Given the description of an element on the screen output the (x, y) to click on. 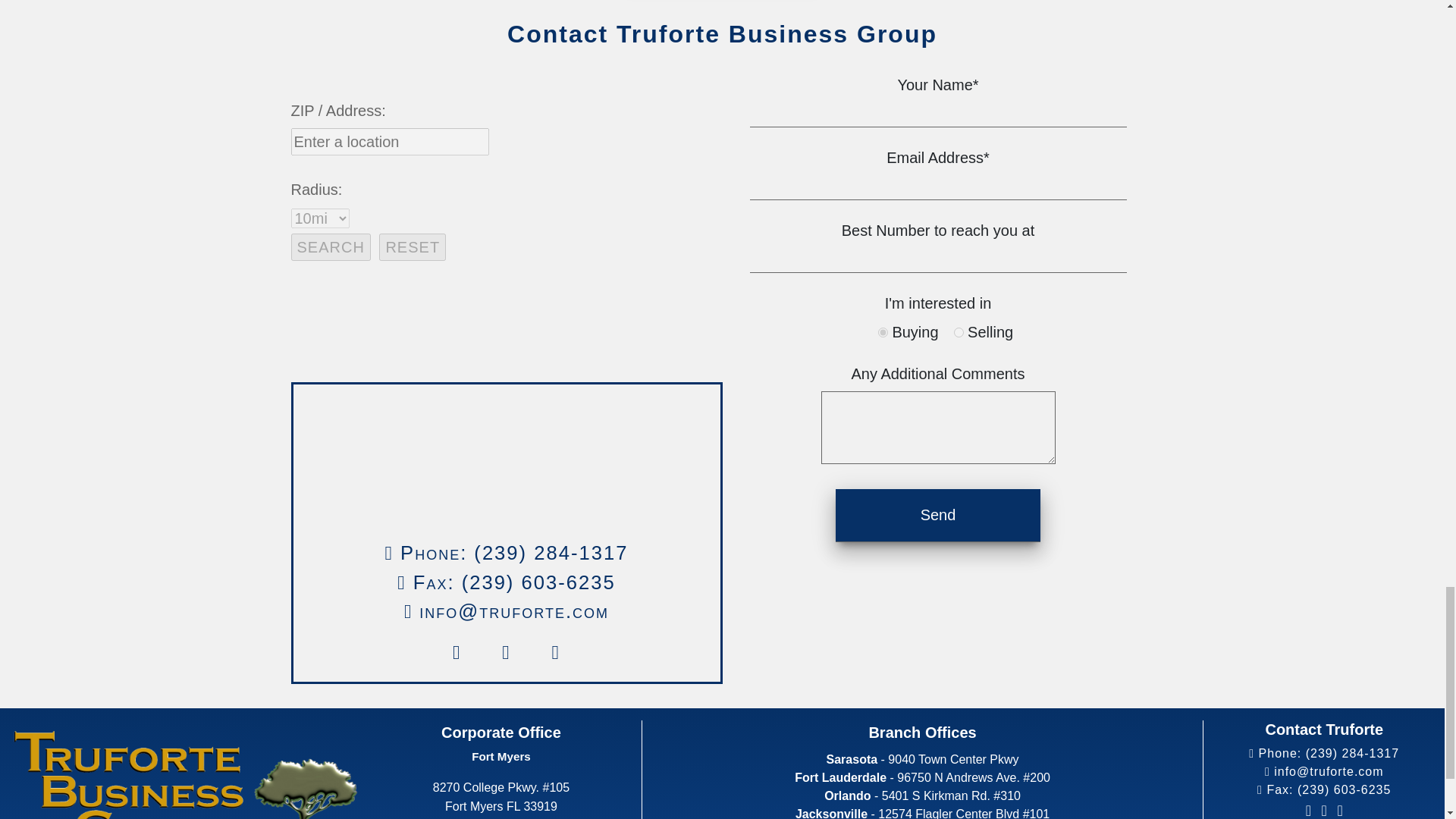
Search (331, 247)
Search (331, 247)
Send (938, 514)
Selling (958, 332)
Buying (882, 332)
Reset (411, 247)
